Given the description of an element on the screen output the (x, y) to click on. 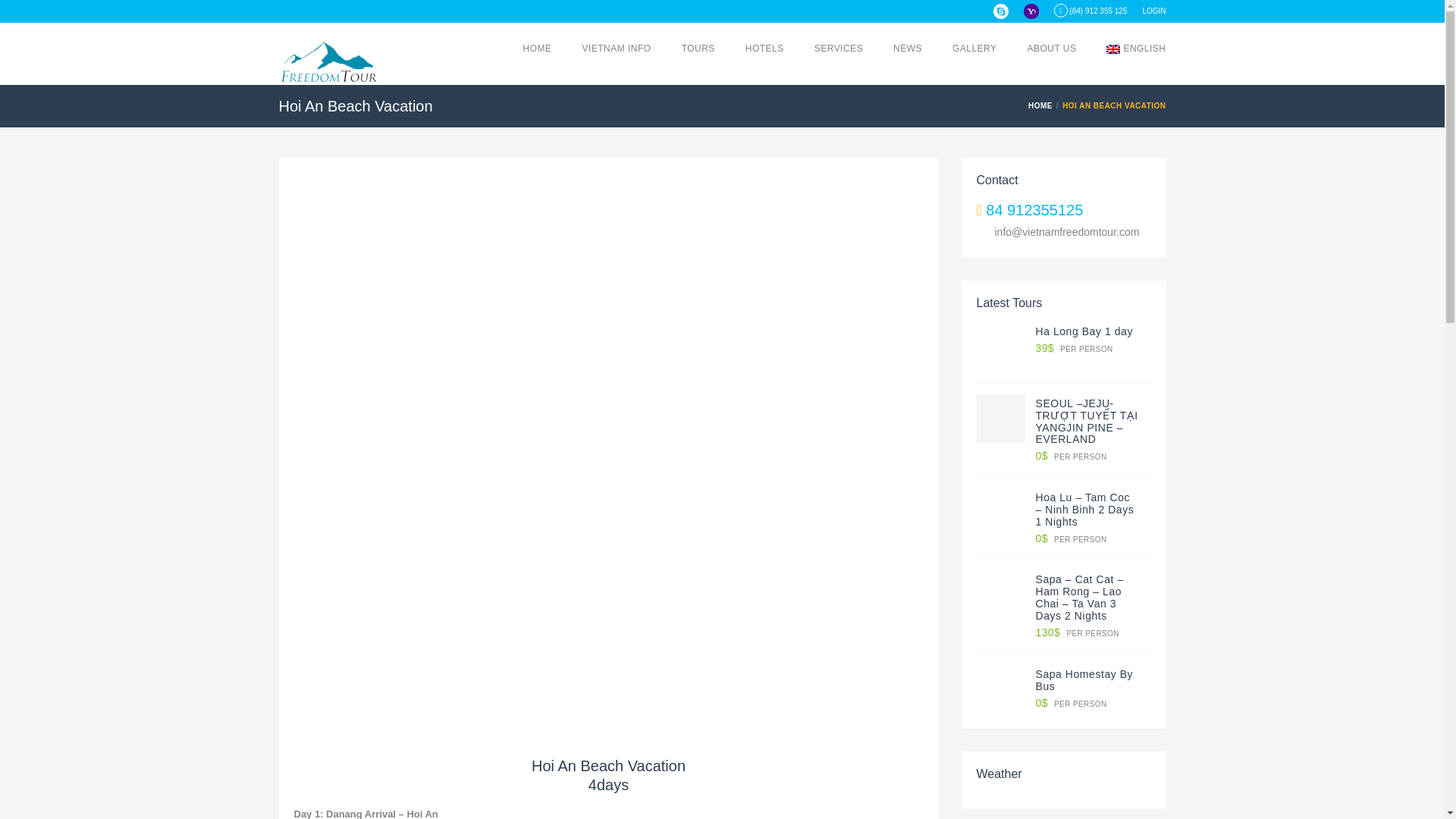
SERVICES (838, 48)
Home (1042, 105)
VIETNAM INFO (616, 48)
English (1112, 49)
LOGIN (1153, 11)
